Given the description of an element on the screen output the (x, y) to click on. 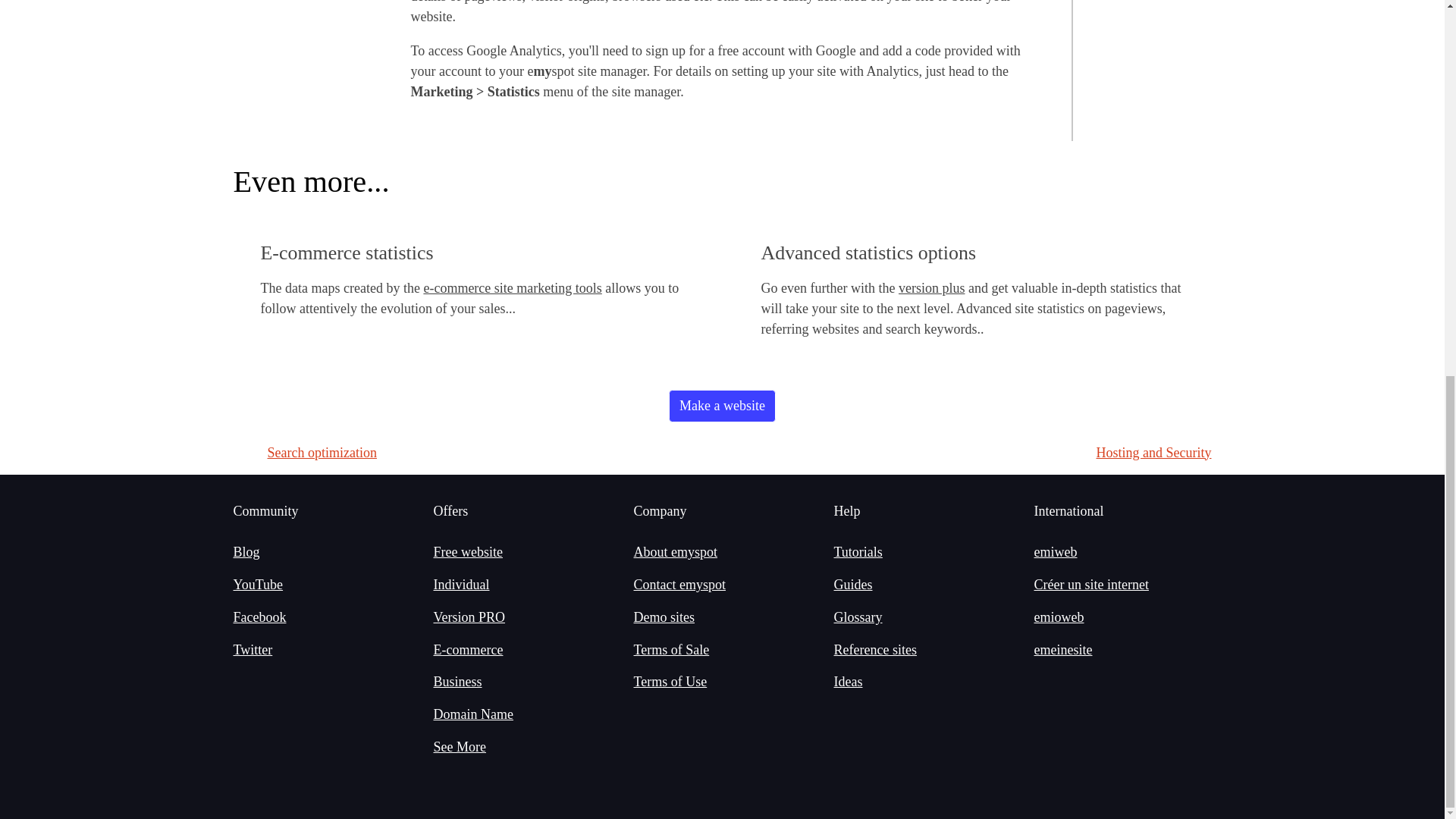
Terms of Sale (671, 649)
Create a free website (467, 551)
Facebook (259, 616)
Domain Name (473, 713)
Create a personal website (461, 584)
version plus (931, 287)
Individual (461, 584)
emiweb (1055, 551)
E-commerce (468, 649)
Emyspot offers (459, 746)
Hosting and Security (1153, 452)
Terms of Use (670, 681)
Blog (246, 551)
Create a professional website (469, 616)
Guides (853, 584)
